Given the description of an element on the screen output the (x, y) to click on. 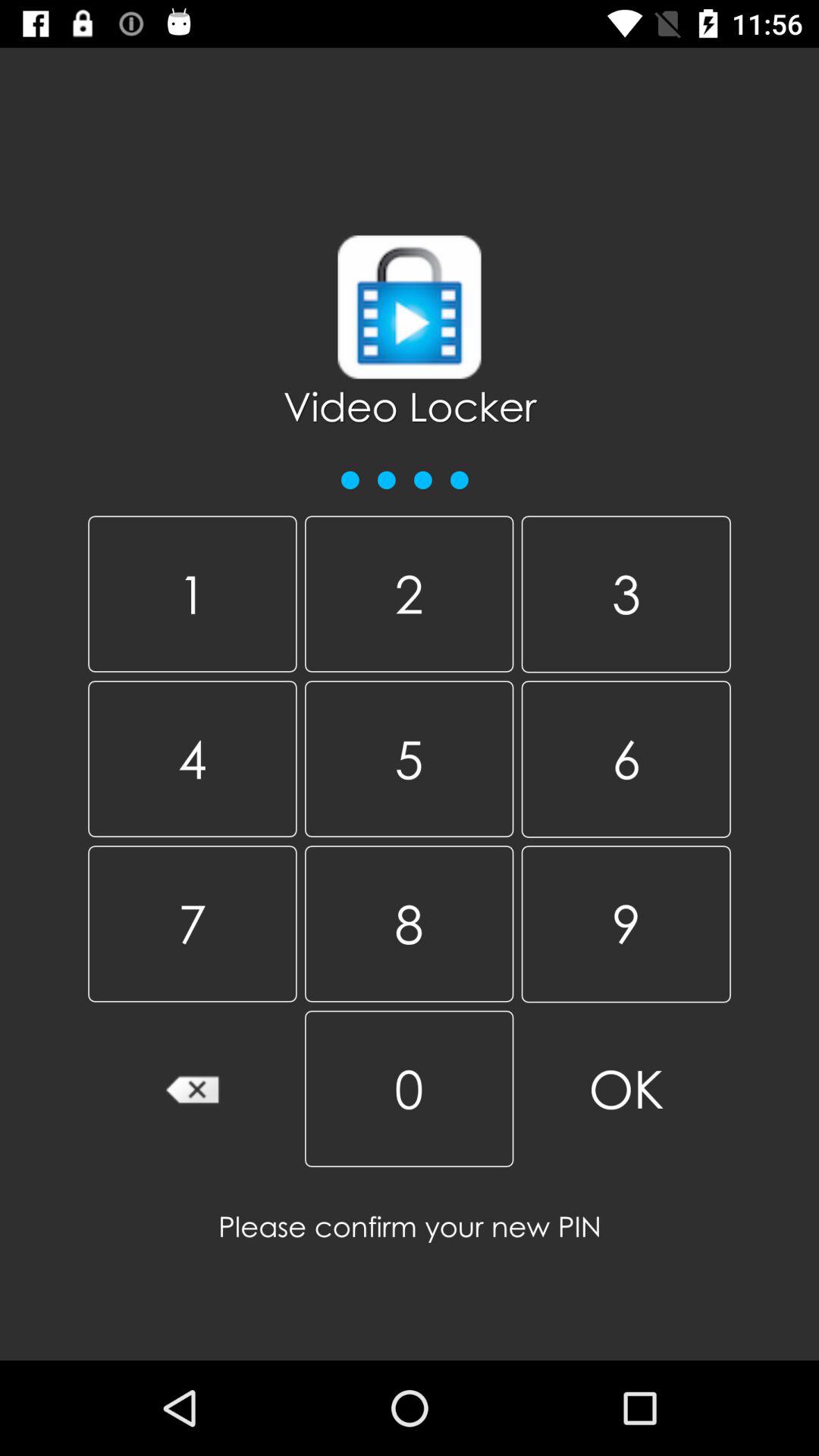
backspace (192, 1088)
